Given the description of an element on the screen output the (x, y) to click on. 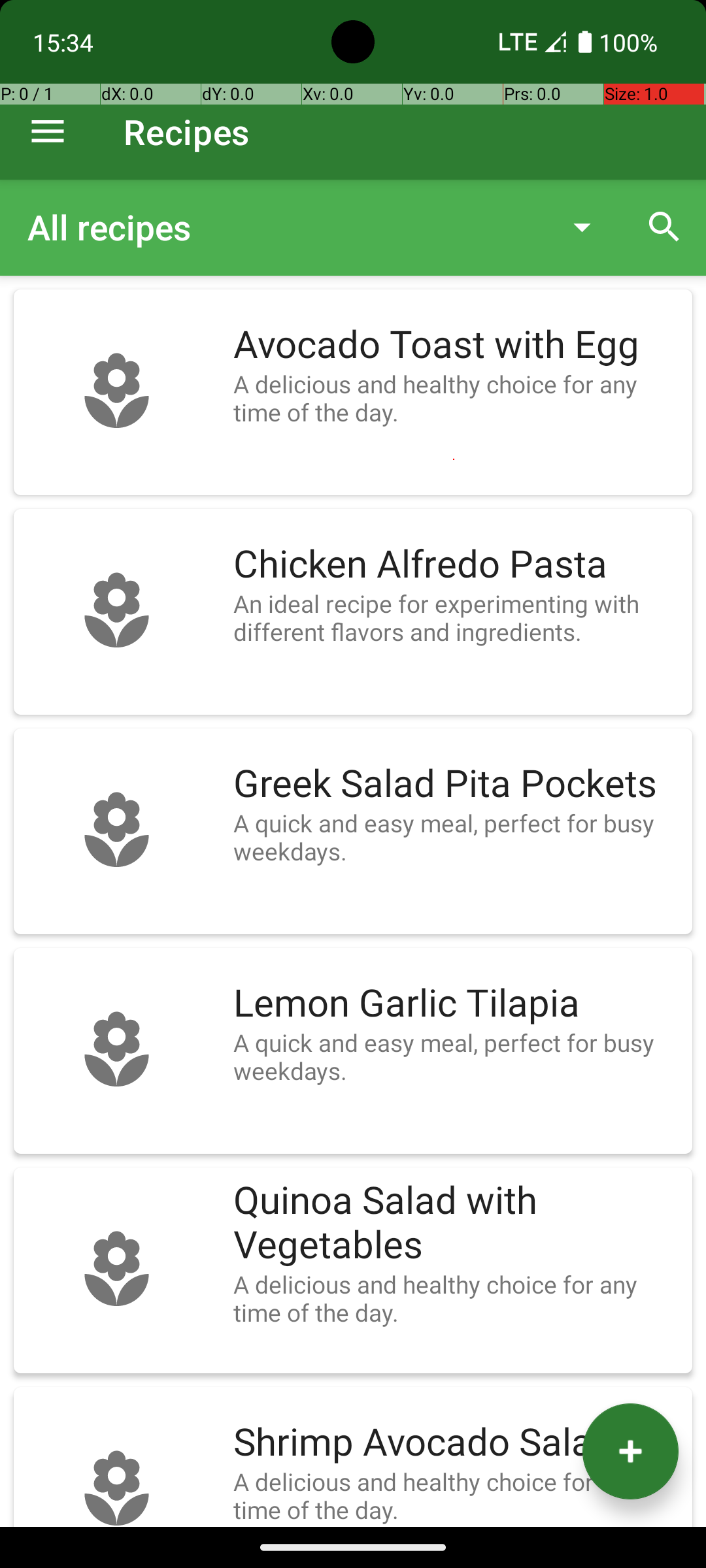
Quinoa Salad with Vegetables Element type: android.widget.TextView (455, 1222)
Shrimp Avocado Salad Element type: android.widget.TextView (455, 1442)
